Given the description of an element on the screen output the (x, y) to click on. 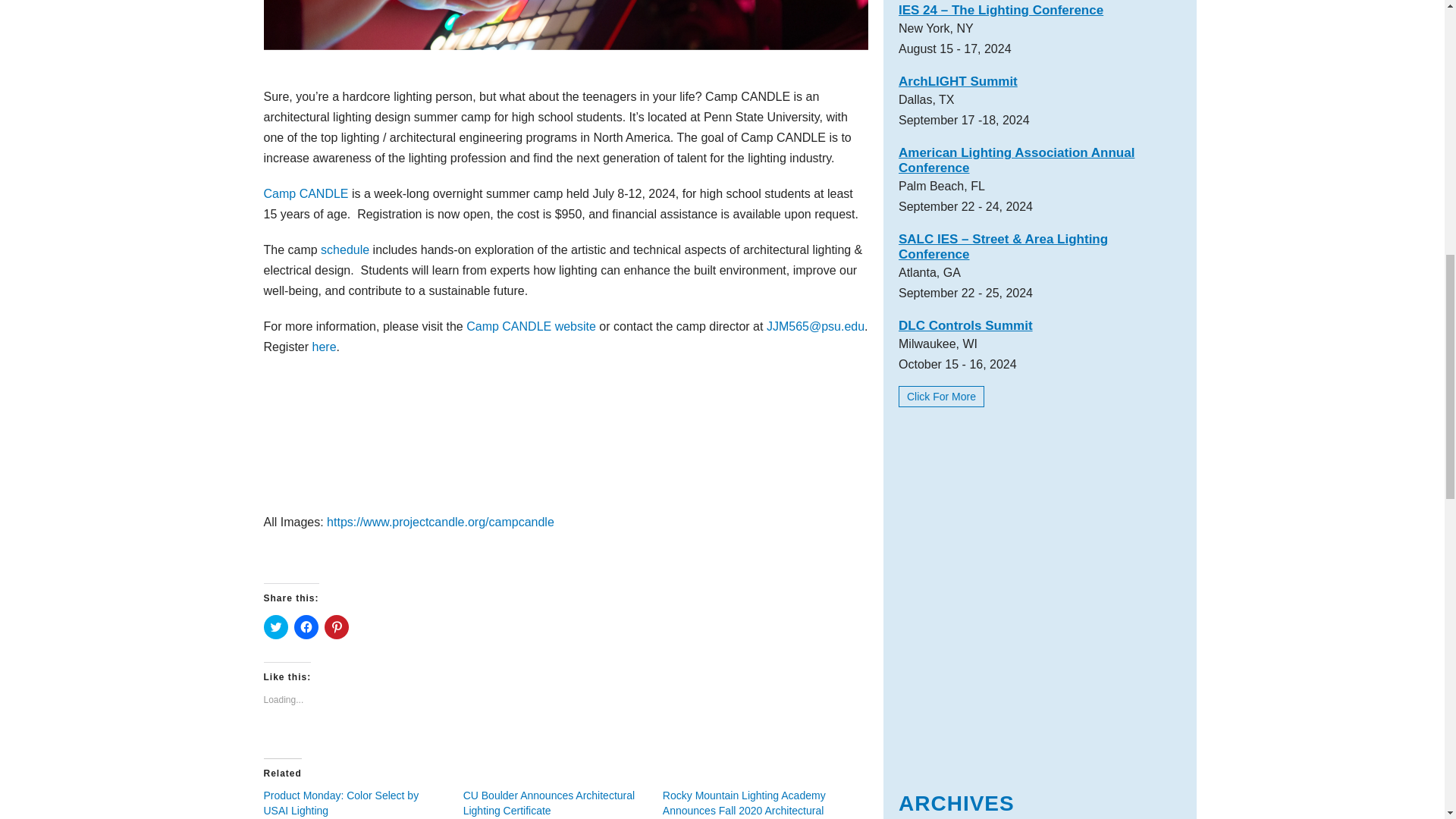
here (324, 346)
Product Monday: Color Select by USAI Lighting (341, 802)
Click to share on Pinterest (336, 627)
Camp CANDLE (306, 193)
CU Boulder Announces Architectural Lighting Certificate (548, 802)
schedule (344, 249)
Camp CANDLE website (530, 326)
CU Boulder Announces Architectural Lighting Certificate (548, 802)
Product Monday: Color Select by USAI Lighting (341, 802)
Click to share on Twitter (275, 627)
Click to share on Facebook (306, 627)
